Given the description of an element on the screen output the (x, y) to click on. 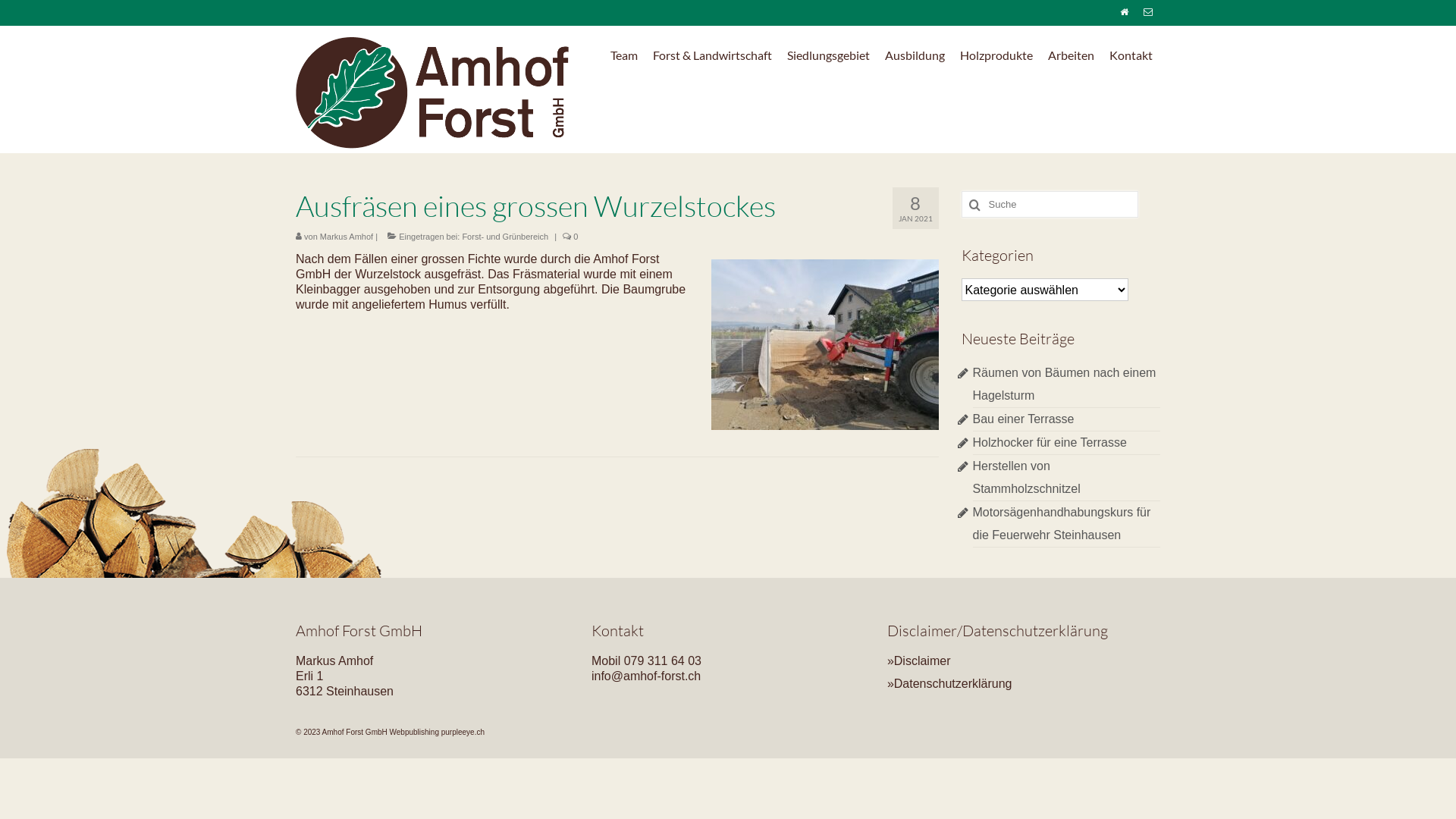
Team Element type: text (623, 54)
Ausbildung Element type: text (914, 54)
Siedlungsgebiet Element type: text (828, 54)
Kontakt Element type: text (1130, 54)
Bau einer Terrasse Element type: text (1022, 418)
Arbeiten Element type: text (1070, 54)
Holzprodukte Element type: text (996, 54)
Markus Amhof Element type: text (346, 236)
purpleeye.ch Element type: text (462, 732)
Forst & Landwirtschaft Element type: text (712, 54)
Herstellen von Stammholzschnitzel Element type: text (1025, 477)
info@amhof-forst.ch Element type: text (645, 675)
